Given the description of an element on the screen output the (x, y) to click on. 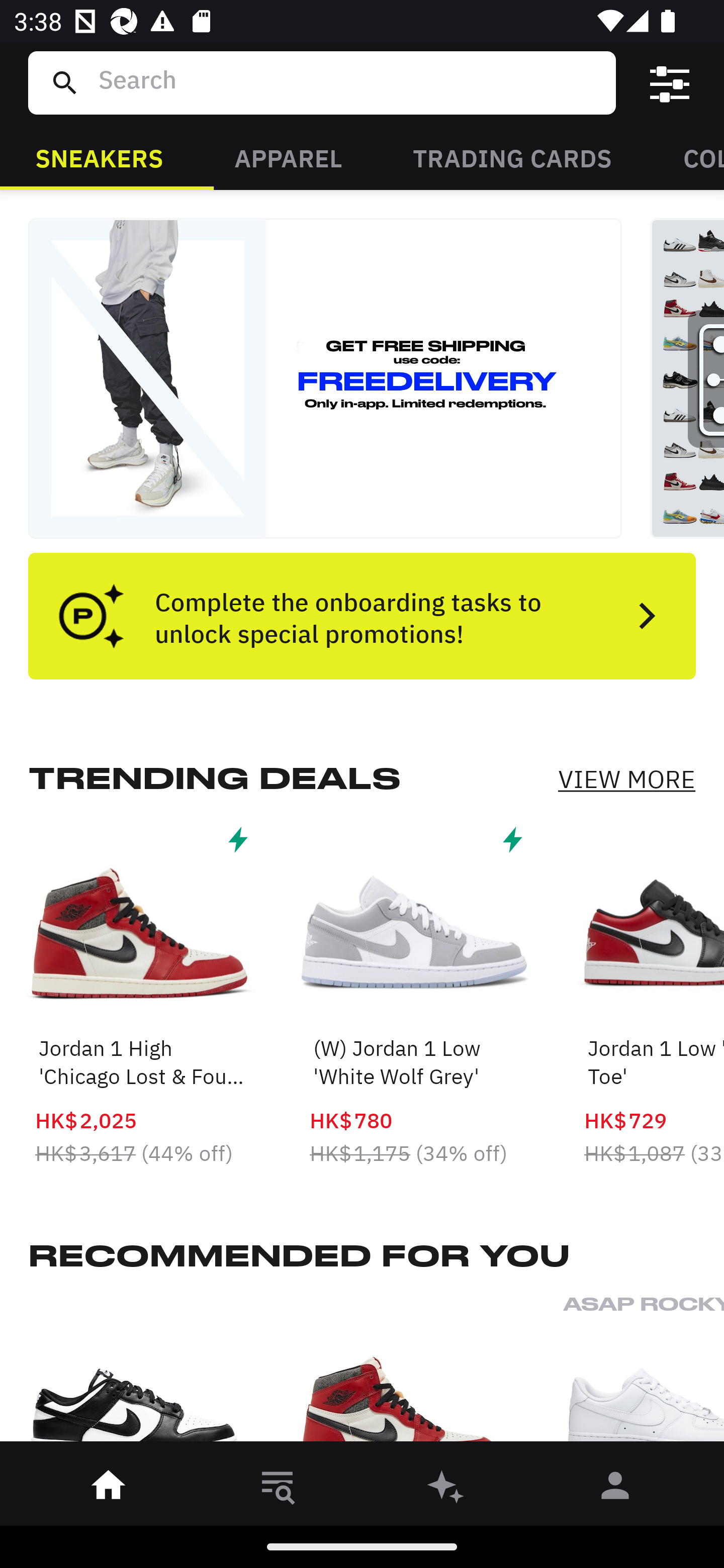
Search (349, 82)
 (669, 82)
SNEAKERS (99, 156)
APPAREL (287, 156)
TRADING CARDS (512, 156)
VIEW MORE (626, 779)
ASAP ROCKY (643, 1373)
󰋜 (108, 1488)
󱎸 (277, 1488)
󰫢 (446, 1488)
󰀄 (615, 1488)
